Given the description of an element on the screen output the (x, y) to click on. 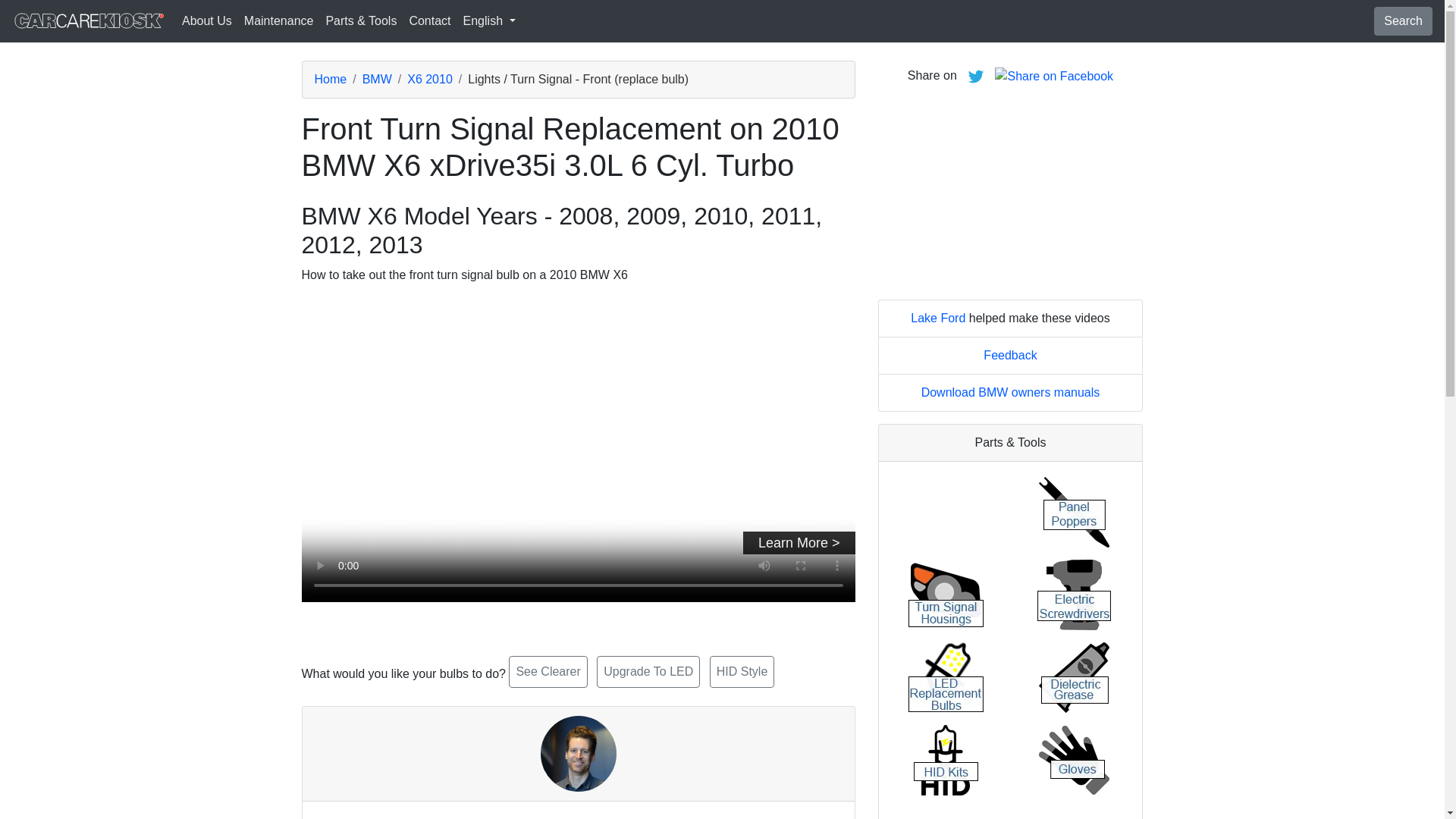
Home (330, 79)
X6 2010 (429, 79)
About Us (207, 20)
English (489, 20)
Feedback (1010, 354)
HID Style (742, 671)
Download BMW owners manuals (1010, 391)
BMW (376, 79)
Search (1403, 21)
Upgrade To LED (648, 671)
